Given the description of an element on the screen output the (x, y) to click on. 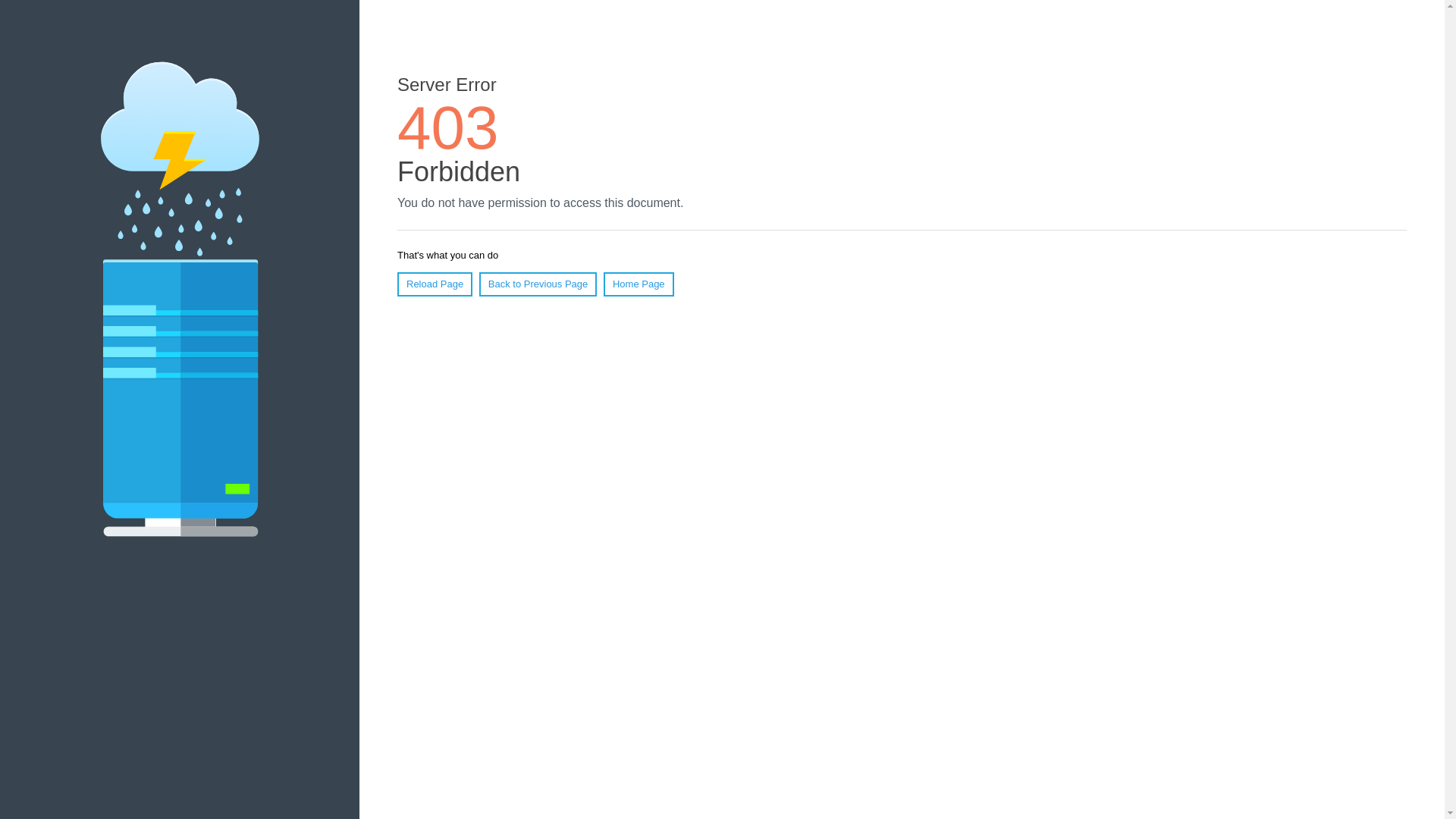
Back to Previous Page Element type: text (538, 284)
Reload Page Element type: text (434, 284)
Home Page Element type: text (638, 284)
